Given the description of an element on the screen output the (x, y) to click on. 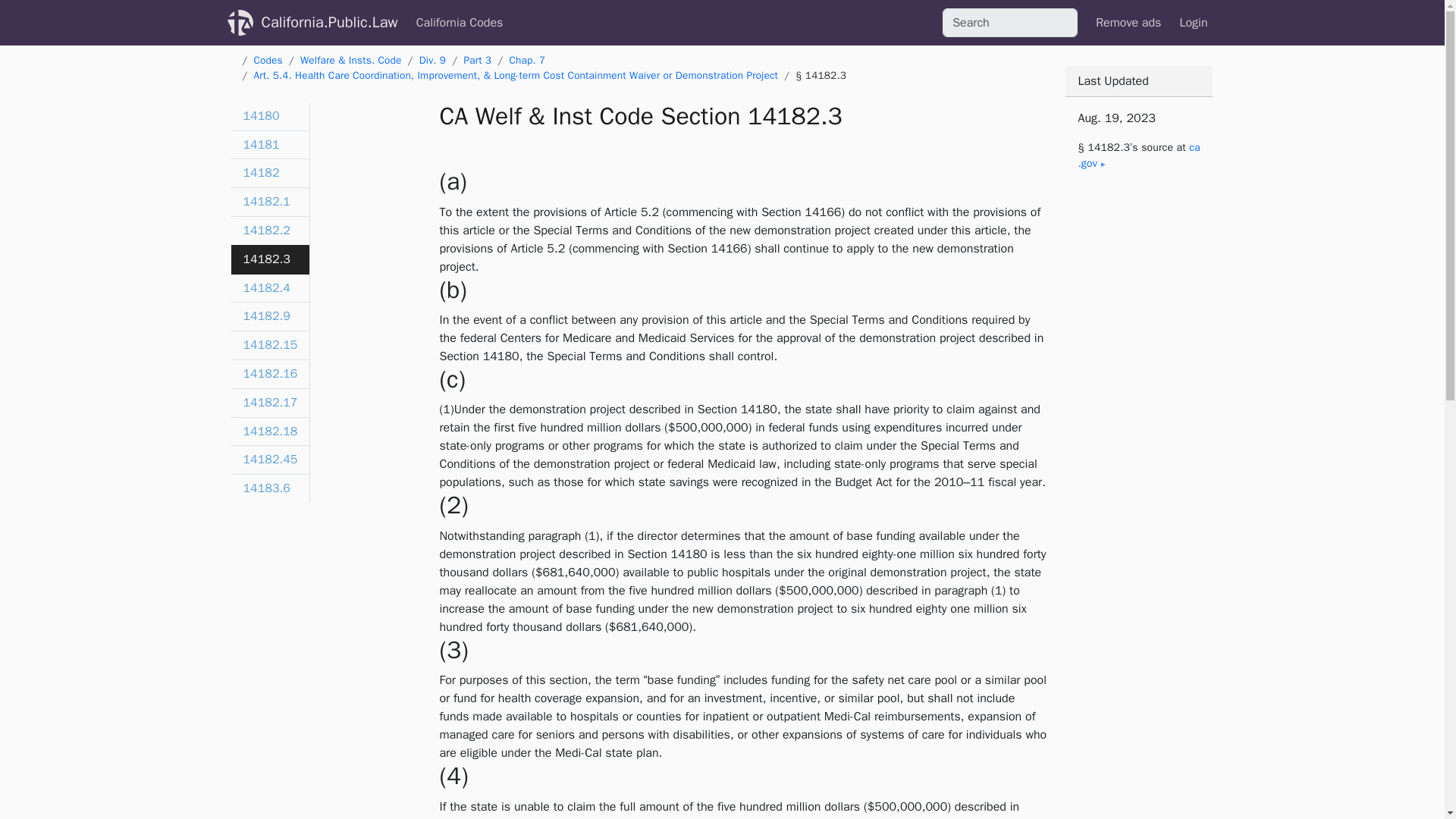
14180 (269, 116)
14182.2 (269, 231)
14181 (269, 145)
Chap. 7 (526, 60)
14182 (269, 173)
Div. 9 (432, 60)
14182.16 (269, 374)
14182.17 (269, 403)
ca.gov (1138, 154)
Login (1192, 22)
